Given the description of an element on the screen output the (x, y) to click on. 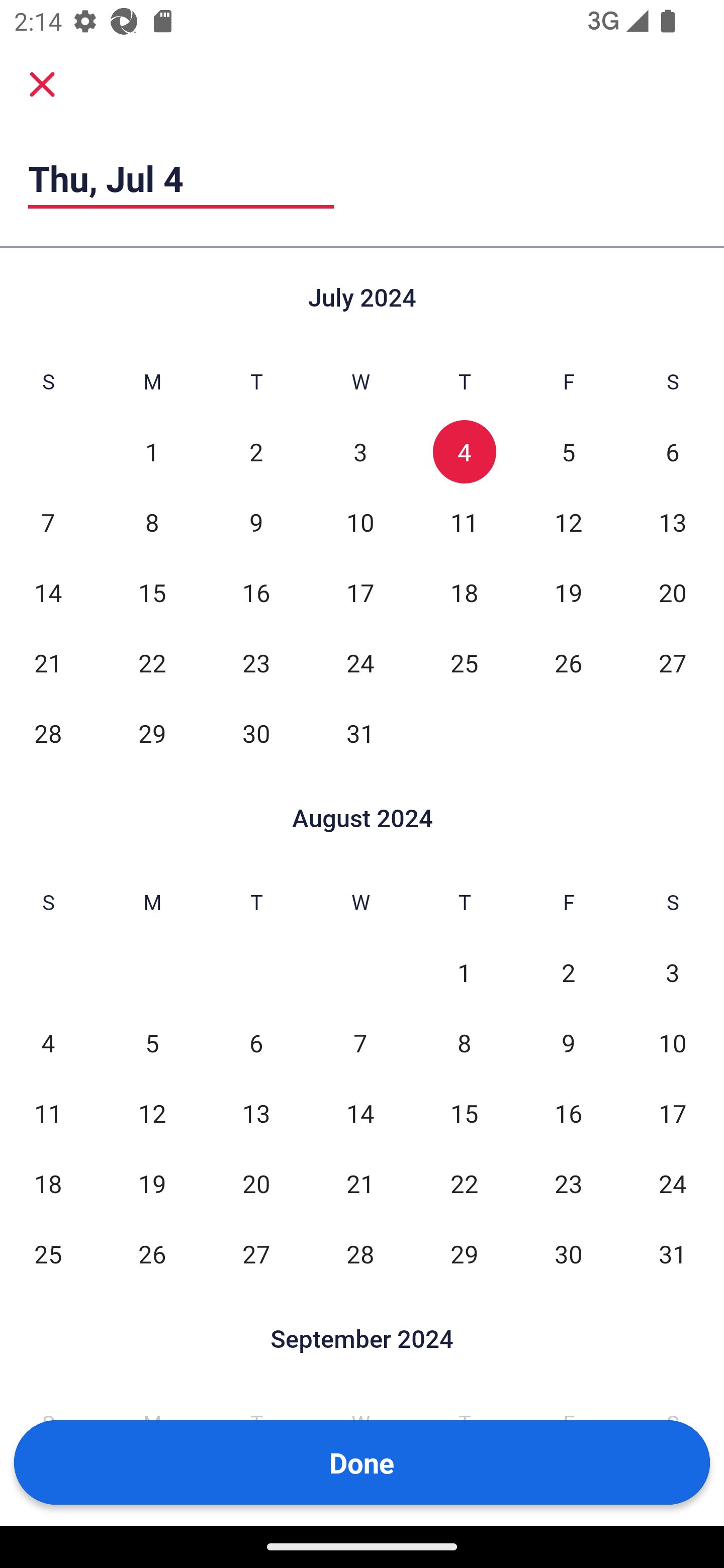
Cancel (41, 83)
Thu, Jul 4 (180, 178)
1 Mon, Jul 1, Not Selected (152, 452)
2 Tue, Jul 2, Not Selected (256, 452)
3 Wed, Jul 3, Not Selected (360, 452)
4 Thu, Jul 4, Selected (464, 452)
5 Fri, Jul 5, Not Selected (568, 452)
6 Sat, Jul 6, Not Selected (672, 452)
7 Sun, Jul 7, Not Selected (48, 521)
8 Mon, Jul 8, Not Selected (152, 521)
9 Tue, Jul 9, Not Selected (256, 521)
10 Wed, Jul 10, Not Selected (360, 521)
11 Thu, Jul 11, Not Selected (464, 521)
12 Fri, Jul 12, Not Selected (568, 521)
13 Sat, Jul 13, Not Selected (672, 521)
14 Sun, Jul 14, Not Selected (48, 591)
15 Mon, Jul 15, Not Selected (152, 591)
16 Tue, Jul 16, Not Selected (256, 591)
17 Wed, Jul 17, Not Selected (360, 591)
18 Thu, Jul 18, Not Selected (464, 591)
19 Fri, Jul 19, Not Selected (568, 591)
20 Sat, Jul 20, Not Selected (672, 591)
21 Sun, Jul 21, Not Selected (48, 662)
22 Mon, Jul 22, Not Selected (152, 662)
23 Tue, Jul 23, Not Selected (256, 662)
24 Wed, Jul 24, Not Selected (360, 662)
25 Thu, Jul 25, Not Selected (464, 662)
26 Fri, Jul 26, Not Selected (568, 662)
27 Sat, Jul 27, Not Selected (672, 662)
28 Sun, Jul 28, Not Selected (48, 732)
29 Mon, Jul 29, Not Selected (152, 732)
30 Tue, Jul 30, Not Selected (256, 732)
31 Wed, Jul 31, Not Selected (360, 732)
1 Thu, Aug 1, Not Selected (464, 972)
2 Fri, Aug 2, Not Selected (568, 972)
3 Sat, Aug 3, Not Selected (672, 972)
4 Sun, Aug 4, Not Selected (48, 1043)
5 Mon, Aug 5, Not Selected (152, 1043)
6 Tue, Aug 6, Not Selected (256, 1043)
7 Wed, Aug 7, Not Selected (360, 1043)
8 Thu, Aug 8, Not Selected (464, 1043)
9 Fri, Aug 9, Not Selected (568, 1043)
10 Sat, Aug 10, Not Selected (672, 1043)
11 Sun, Aug 11, Not Selected (48, 1112)
12 Mon, Aug 12, Not Selected (152, 1112)
13 Tue, Aug 13, Not Selected (256, 1112)
14 Wed, Aug 14, Not Selected (360, 1112)
15 Thu, Aug 15, Not Selected (464, 1112)
16 Fri, Aug 16, Not Selected (568, 1112)
17 Sat, Aug 17, Not Selected (672, 1112)
18 Sun, Aug 18, Not Selected (48, 1182)
19 Mon, Aug 19, Not Selected (152, 1182)
20 Tue, Aug 20, Not Selected (256, 1182)
21 Wed, Aug 21, Not Selected (360, 1182)
22 Thu, Aug 22, Not Selected (464, 1182)
23 Fri, Aug 23, Not Selected (568, 1182)
24 Sat, Aug 24, Not Selected (672, 1182)
25 Sun, Aug 25, Not Selected (48, 1253)
26 Mon, Aug 26, Not Selected (152, 1253)
27 Tue, Aug 27, Not Selected (256, 1253)
28 Wed, Aug 28, Not Selected (360, 1253)
29 Thu, Aug 29, Not Selected (464, 1253)
30 Fri, Aug 30, Not Selected (568, 1253)
31 Sat, Aug 31, Not Selected (672, 1253)
Done Button Done (361, 1462)
